Given the description of an element on the screen output the (x, y) to click on. 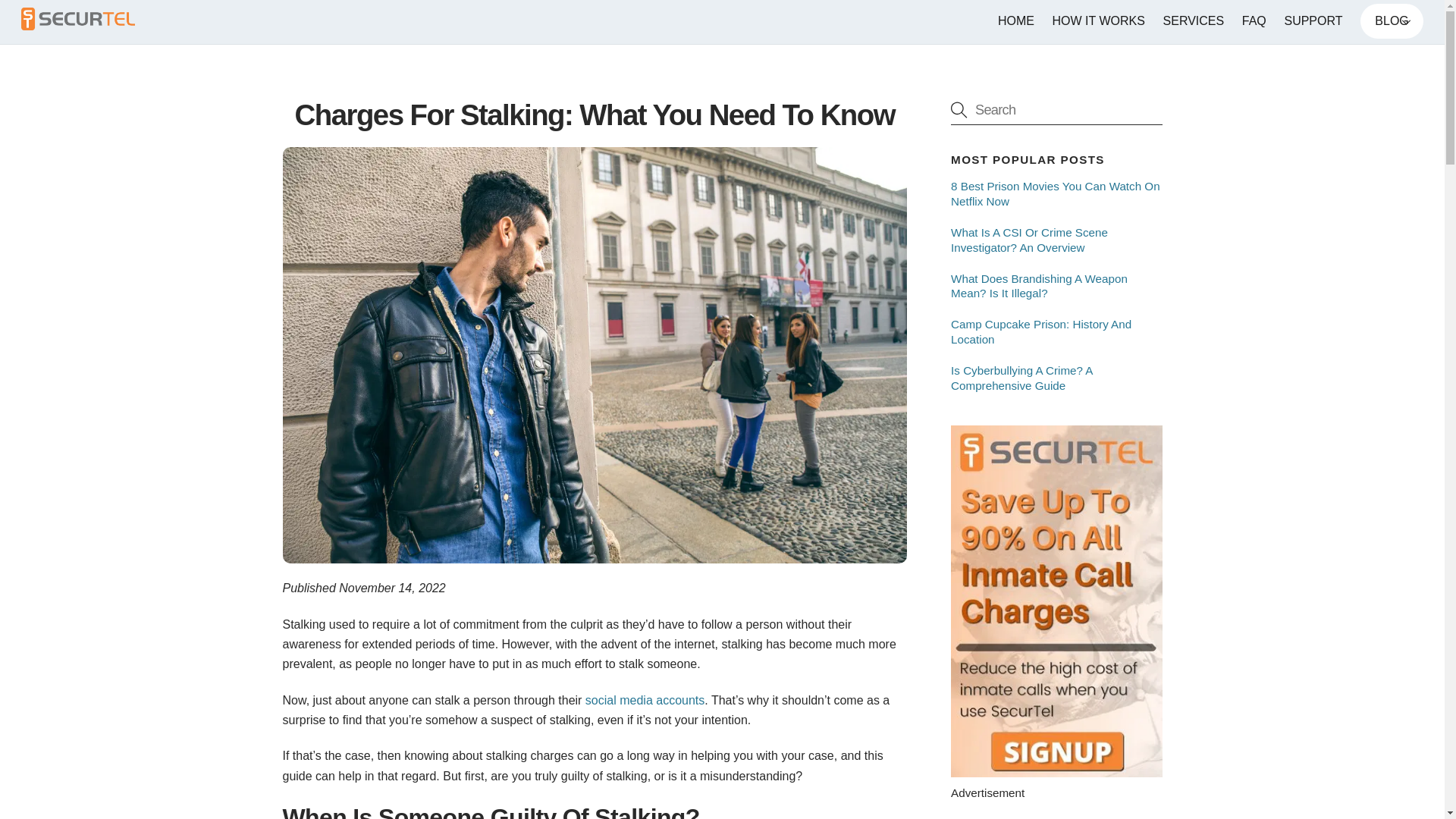
HOW IT WORKS (1099, 21)
SecurTel (78, 23)
What Does Brandishing A Weapon Mean? Is It Illegal? (1055, 286)
What Is A CSI Or Crime Scene Investigator? An Overview (1055, 240)
8 Best Prison Movies You Can Watch On Netflix Now (1055, 194)
SUPPORT (1312, 21)
HOME (1015, 21)
BLOG (1391, 21)
Camp Cupcake Prison: History And Location (1055, 331)
Is Cyberbullying A Crime? A Comprehensive Guide (1055, 378)
social media accounts (644, 699)
charges-for-stalking (722, 21)
FAQ (1055, 109)
